Given the description of an element on the screen output the (x, y) to click on. 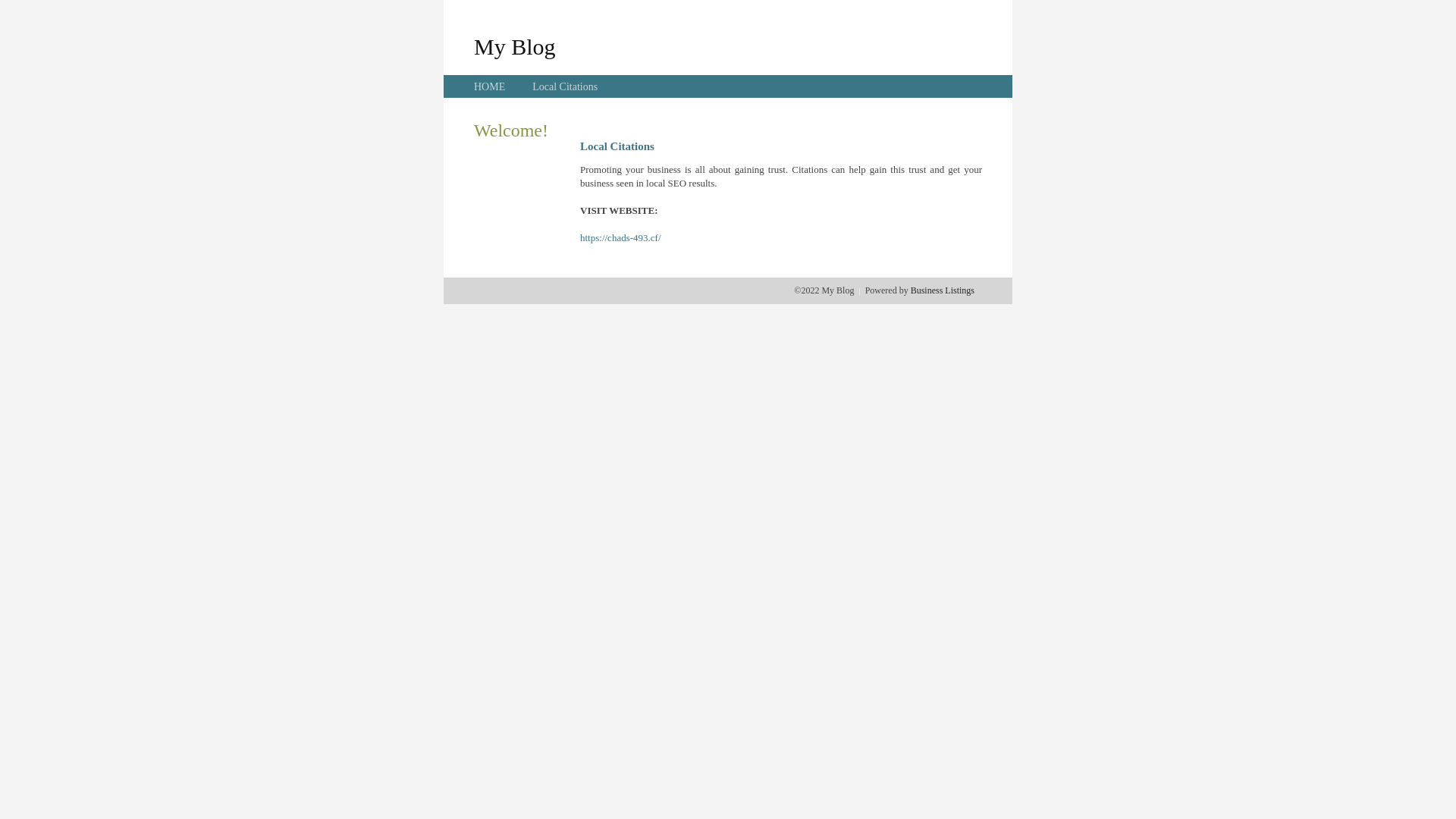
Business Listings Element type: text (942, 290)
Local Citations Element type: text (564, 86)
My Blog Element type: text (514, 46)
HOME Element type: text (489, 86)
https://chads-493.cf/ Element type: text (620, 237)
